Given the description of an element on the screen output the (x, y) to click on. 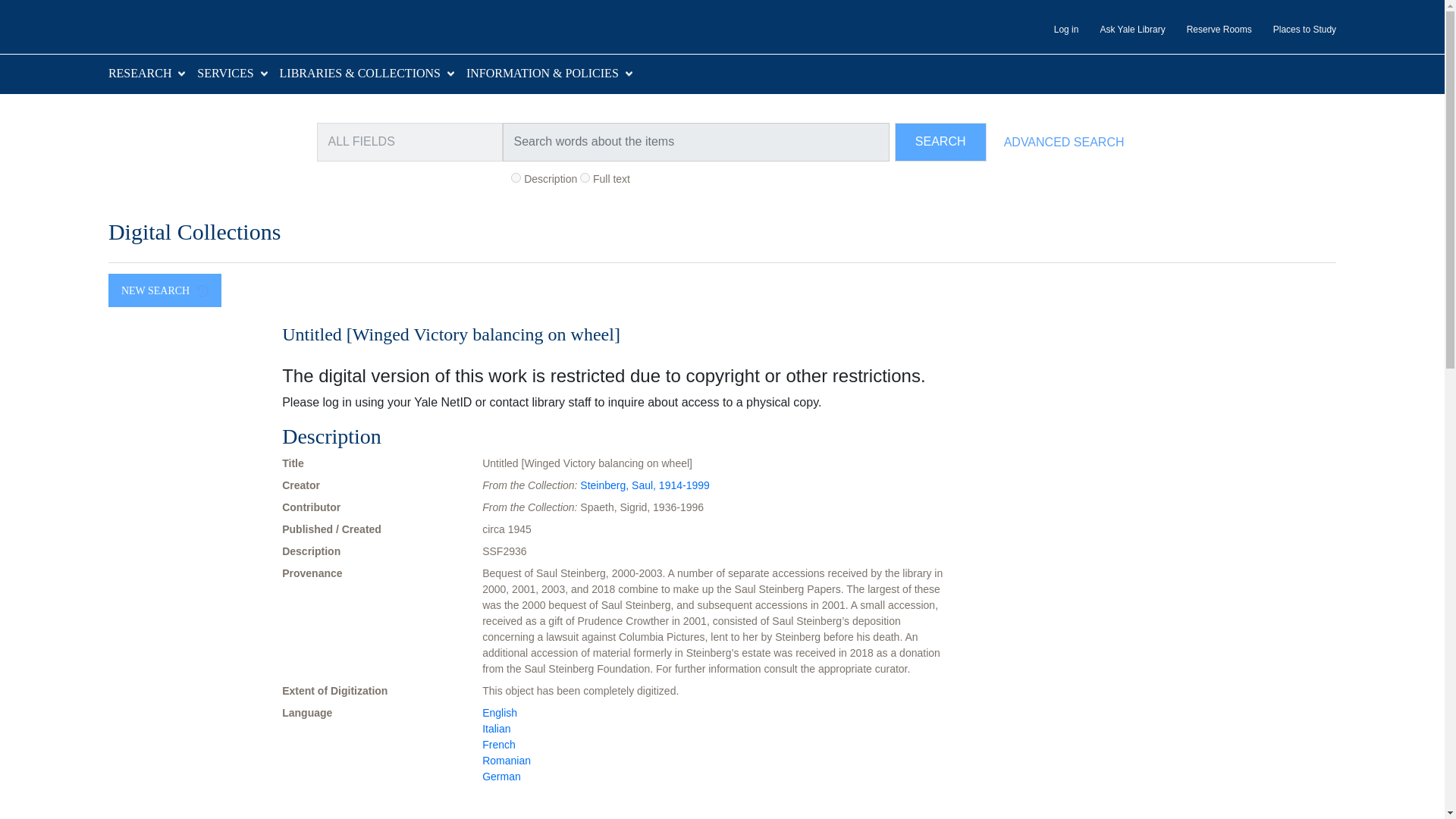
RESEARCH (139, 73)
2 (584, 177)
Log in (1055, 29)
Places to Study (1294, 29)
1 (516, 177)
Log in (1055, 29)
Skip to main content (39, 9)
Skip to search (37, 9)
Ask Yale Library (1121, 29)
SERVICES (224, 73)
